Given the description of an element on the screen output the (x, y) to click on. 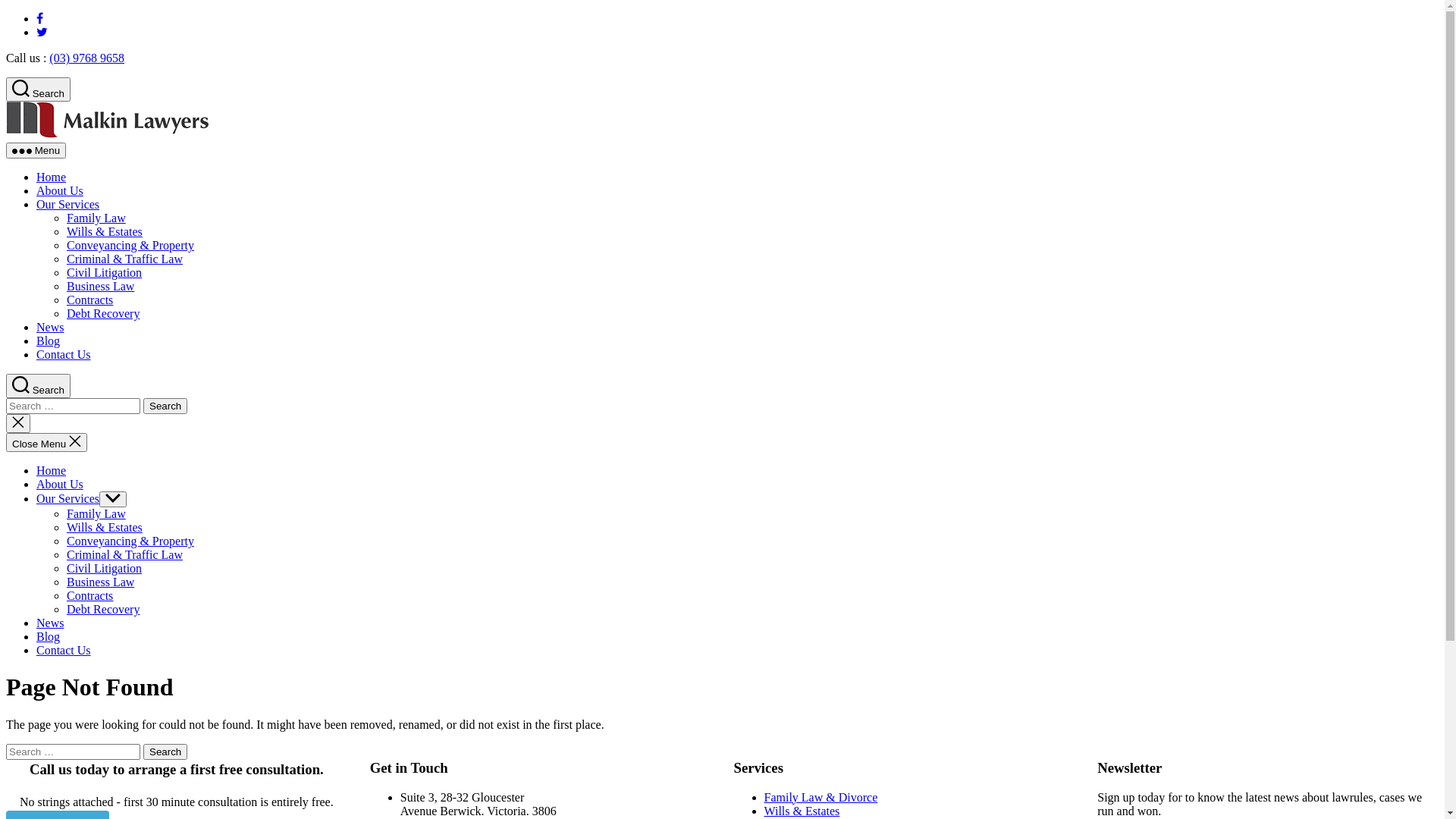
Search Element type: text (38, 89)
Criminal & Traffic Law Element type: text (124, 258)
Search Element type: text (165, 406)
Business Law Element type: text (100, 581)
News Element type: text (49, 622)
Wills & Estates Element type: text (802, 810)
Contact Us Element type: text (63, 354)
Conveyancing & Property Element type: text (130, 540)
Close Menu Element type: text (46, 442)
Family Law Element type: text (95, 217)
News Element type: text (49, 326)
Show sub menu Element type: text (112, 499)
Family Law & Divorce Element type: text (821, 796)
Criminal & Traffic Law Element type: text (124, 554)
Menu Element type: text (35, 150)
Family Law Element type: text (95, 513)
Home Element type: text (50, 470)
Wills & Estates Element type: text (104, 526)
Blog Element type: text (47, 636)
Home Element type: text (50, 176)
Search Element type: text (165, 751)
Business Law Element type: text (100, 285)
Debt Recovery Element type: text (102, 313)
Conveyancing & Property Element type: text (130, 244)
Contracts Element type: text (89, 299)
Skip to the content Element type: text (5, 11)
Blog Element type: text (47, 340)
Civil Litigation Element type: text (103, 272)
(03) 9768 9658 Element type: text (86, 57)
Debt Recovery Element type: text (102, 608)
Civil Litigation Element type: text (103, 567)
Close search Element type: text (18, 423)
About Us Element type: text (59, 483)
Contact Us Element type: text (63, 649)
Contracts Element type: text (89, 595)
Our Services Element type: text (67, 203)
About Us Element type: text (59, 190)
Search Element type: text (38, 385)
Our Services Element type: text (67, 498)
Wills & Estates Element type: text (104, 231)
